Given the description of an element on the screen output the (x, y) to click on. 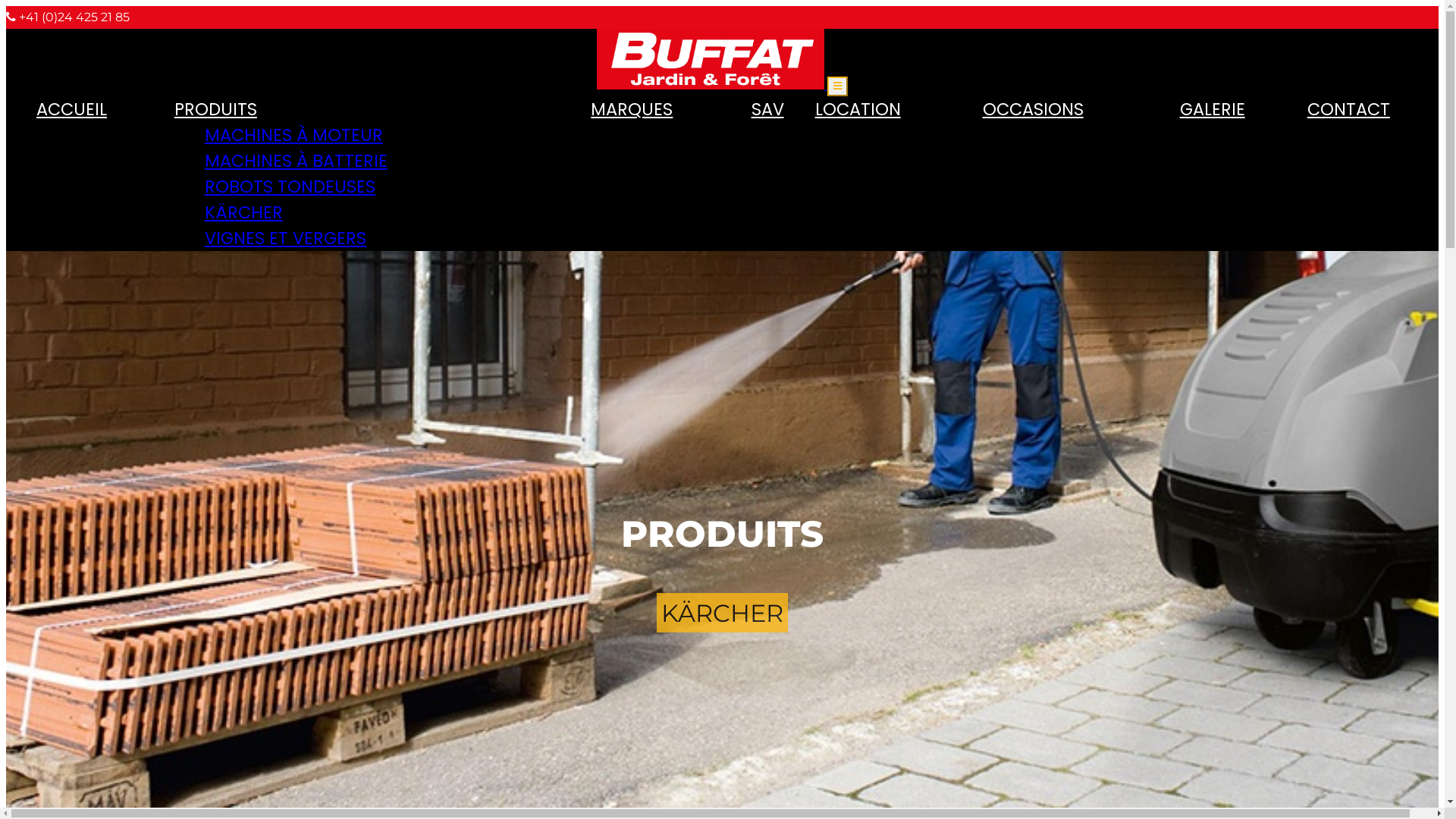
ACCUEIL Element type: text (71, 113)
VIGNES ET VERGERS Element type: text (285, 237)
ROBOTS TONDEUSES Element type: text (289, 186)
OCCASIONS Element type: text (1032, 113)
MARQUES Element type: text (631, 113)
GALERIE Element type: text (1212, 113)
SAV Element type: text (767, 113)
LOCATION Element type: text (857, 113)
PRODUITS Element type: text (215, 113)
CONTACT Element type: text (1348, 113)
